Given the description of an element on the screen output the (x, y) to click on. 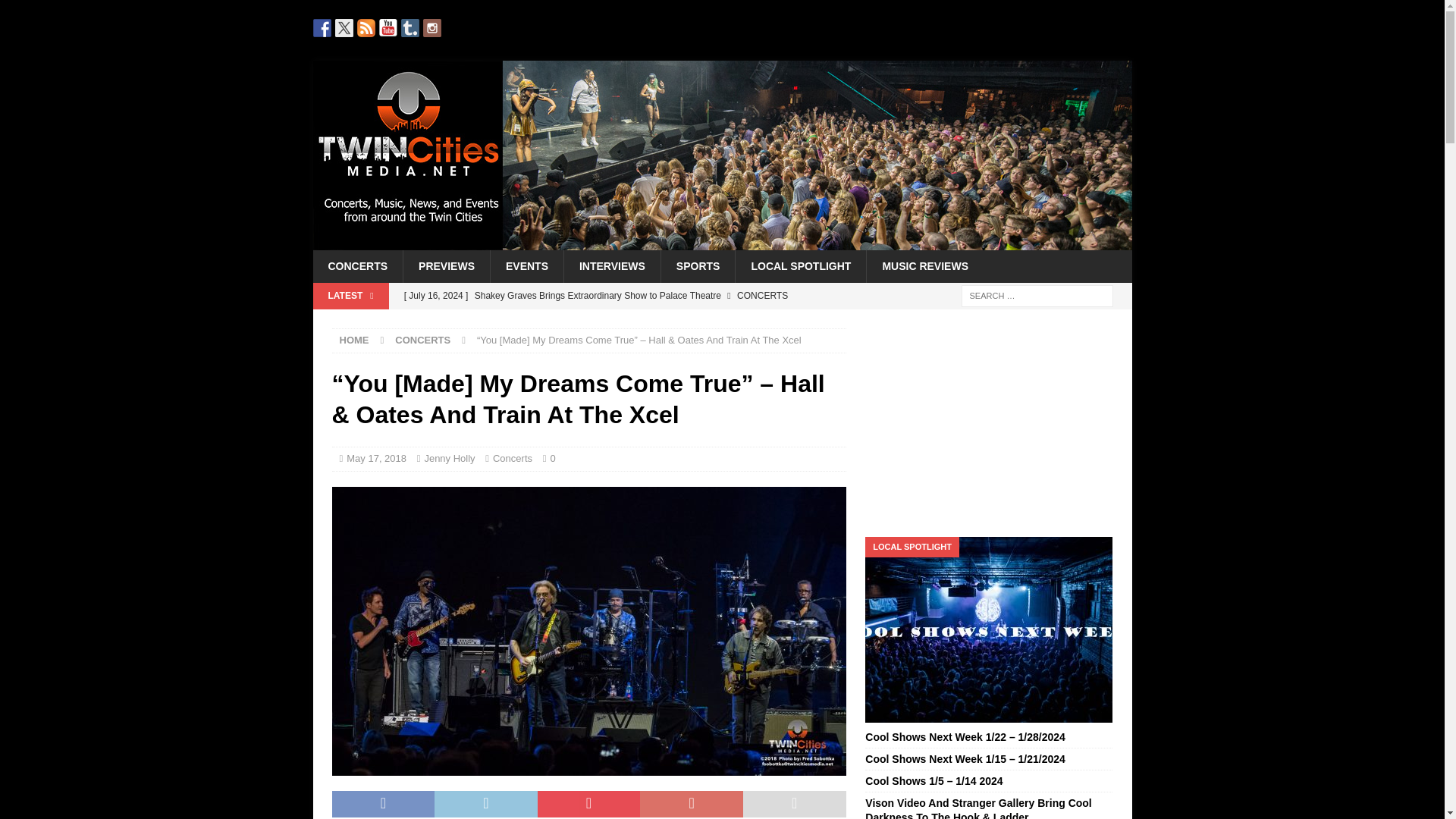
Check out our instagram feed (432, 27)
INTERVIEWS (612, 265)
TwinCitiesMedia.net (722, 241)
Shakey Graves Brings Extraordinary Show to Palace Theatre (620, 295)
SPORTS (698, 265)
PREVIEWS (446, 265)
Find us on tumblr (409, 27)
Follow us on Facebook (321, 27)
May 17, 2018 (376, 458)
Find us on YouTube (387, 27)
CONCERTS (358, 265)
HOME (354, 339)
EVENTS (526, 265)
CONCERTS (421, 339)
